Given the description of an element on the screen output the (x, y) to click on. 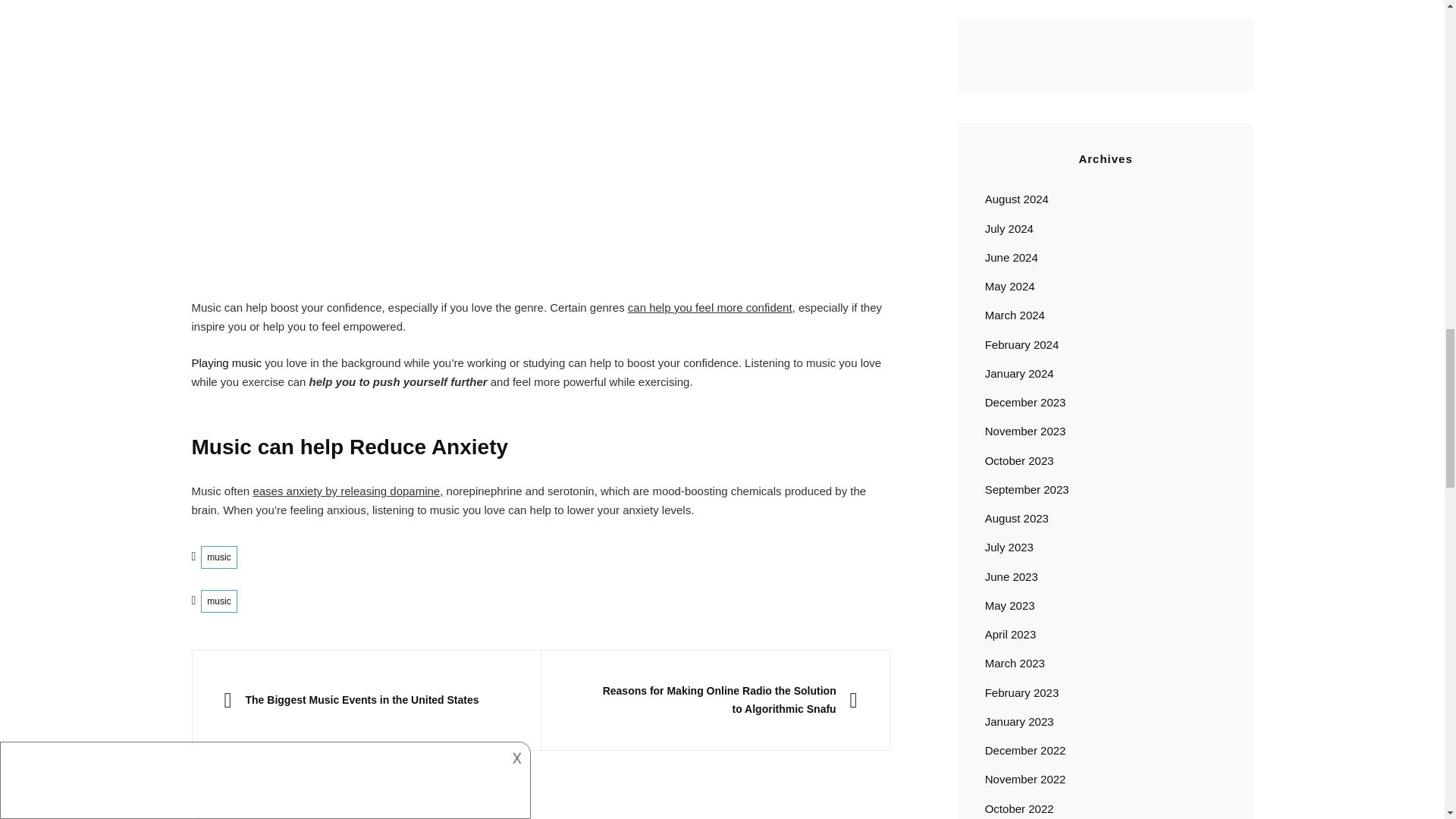
music (217, 600)
music (217, 557)
Playing music (226, 362)
